Given the description of an element on the screen output the (x, y) to click on. 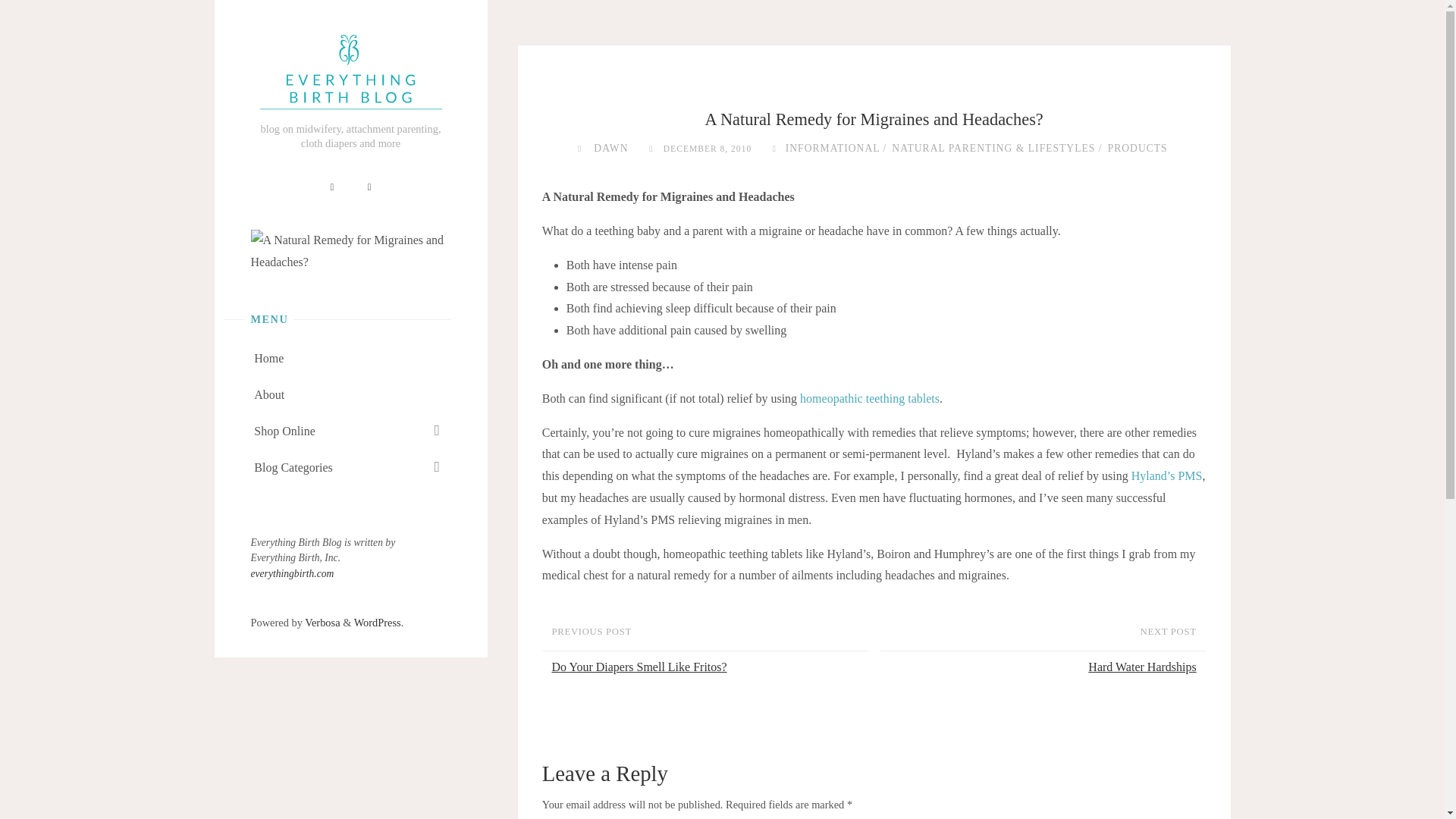
Facebook (331, 187)
About (268, 394)
Blog Categories (293, 467)
Author (579, 147)
Date (650, 147)
Semantic Personal Publishing Platform (377, 622)
Verbosa WordPress Theme by Cryout Creations (321, 622)
View all posts by Dawn (610, 147)
Categories (774, 147)
Shop Online (283, 431)
Home (268, 358)
Twitter (368, 187)
